Given the description of an element on the screen output the (x, y) to click on. 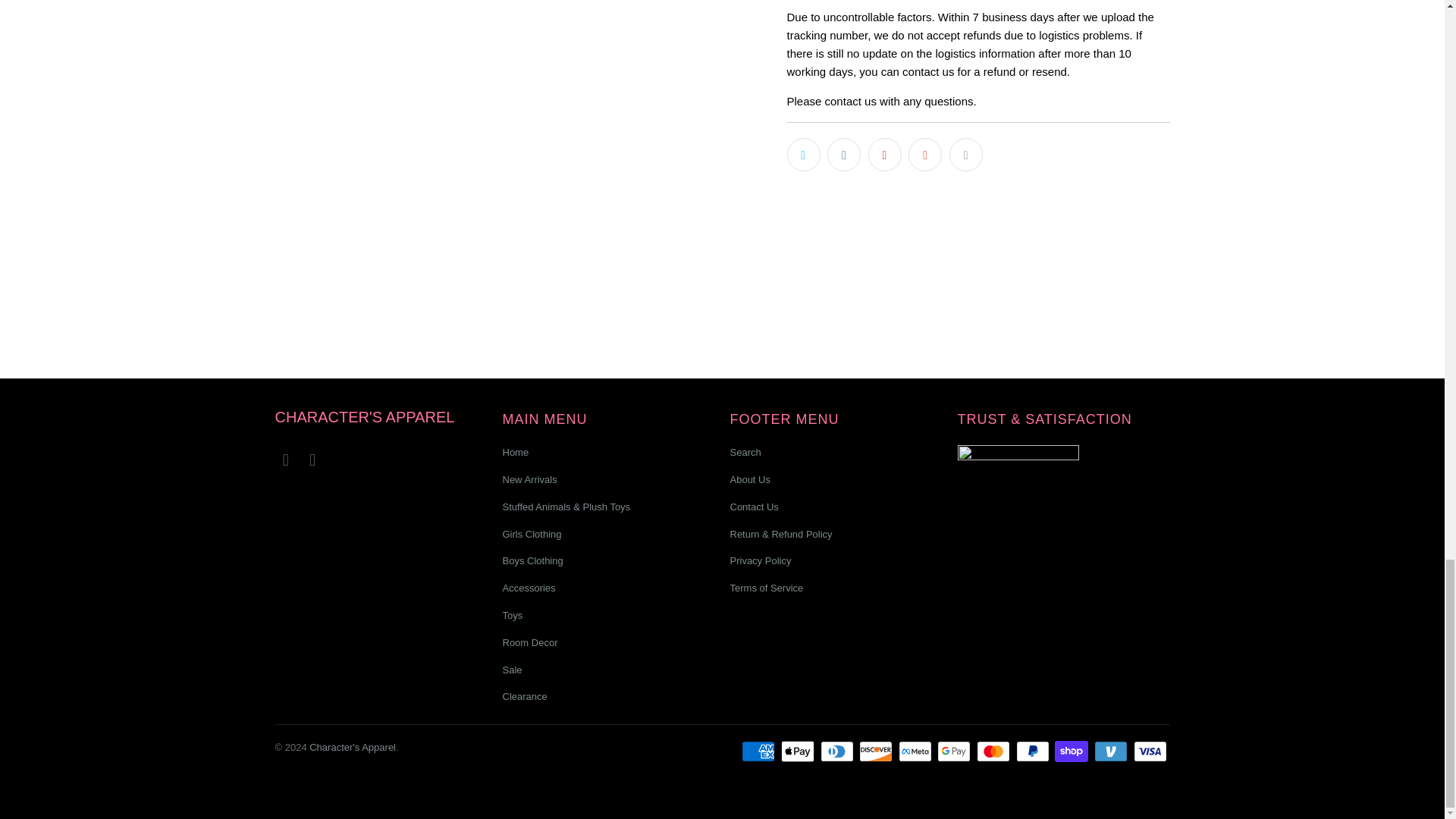
Shop Pay (1072, 751)
Email this to a friend (965, 153)
Venmo (1112, 751)
Google Pay (955, 751)
Character's Apparel on Facebook (286, 460)
Discover (877, 751)
Apple Pay (798, 751)
Share this on Pinterest (884, 153)
Share this on Facebook (843, 153)
Visa (1150, 751)
